Given the description of an element on the screen output the (x, y) to click on. 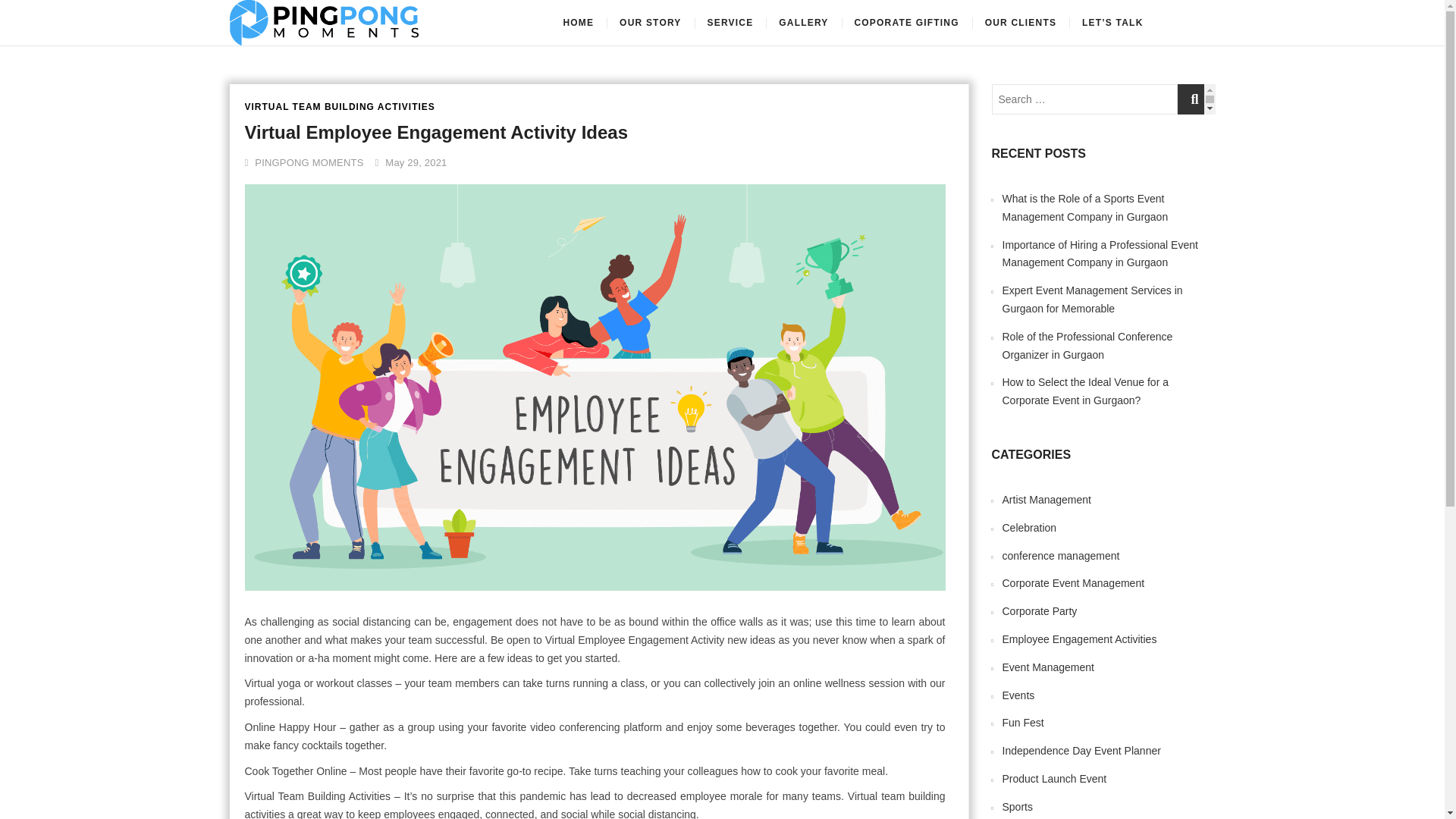
PINGPONG MOMENTS (303, 162)
HOME (578, 22)
Virtual Employee Engagement Activity Ideas (303, 162)
May 29, 2021 (410, 162)
Corporate Party (1040, 611)
conference management (1061, 555)
Role of the Professional Conference Organizer in Gurgaon (1088, 345)
Artist Management (1047, 499)
VIRTUAL TEAM BUILDING ACTIVITIES (338, 106)
COPORATE GIFTING (906, 22)
Celebration (1030, 527)
SERVICE (729, 22)
Virtual Employee Engagement Activity Ideas (435, 132)
May 29, 2021 (410, 162)
OUR CLIENTS (1021, 22)
